Given the description of an element on the screen output the (x, y) to click on. 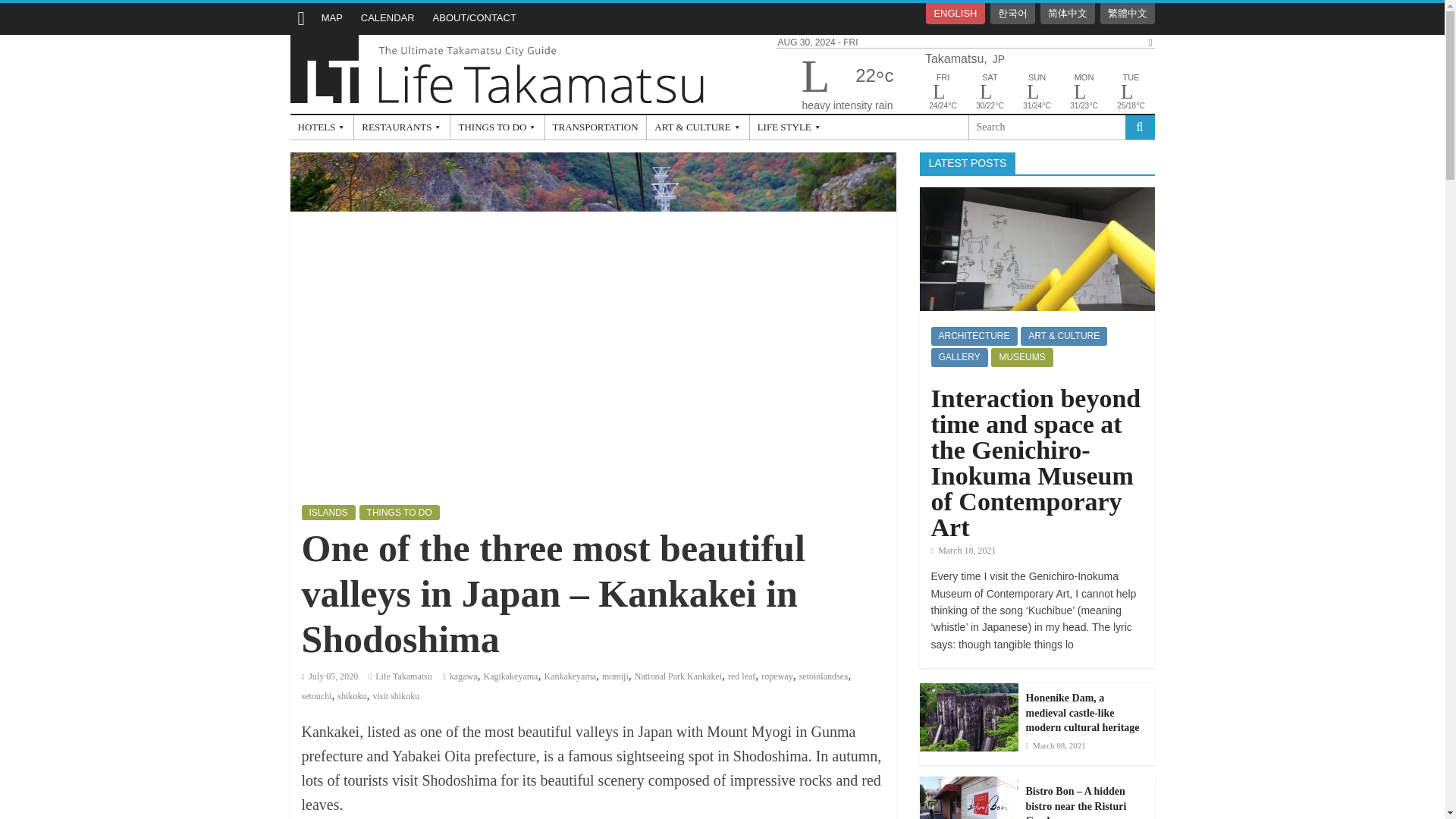
ISLANDS (328, 512)
moderate rain (943, 91)
ENGLISH (955, 13)
15:24 (329, 675)
CALENDAR (387, 18)
very heavy rain (1084, 91)
Life Takamatsu (497, 43)
THINGS TO DO (496, 127)
THINGS TO DO (399, 512)
MAP (332, 18)
